Given the description of an element on the screen output the (x, y) to click on. 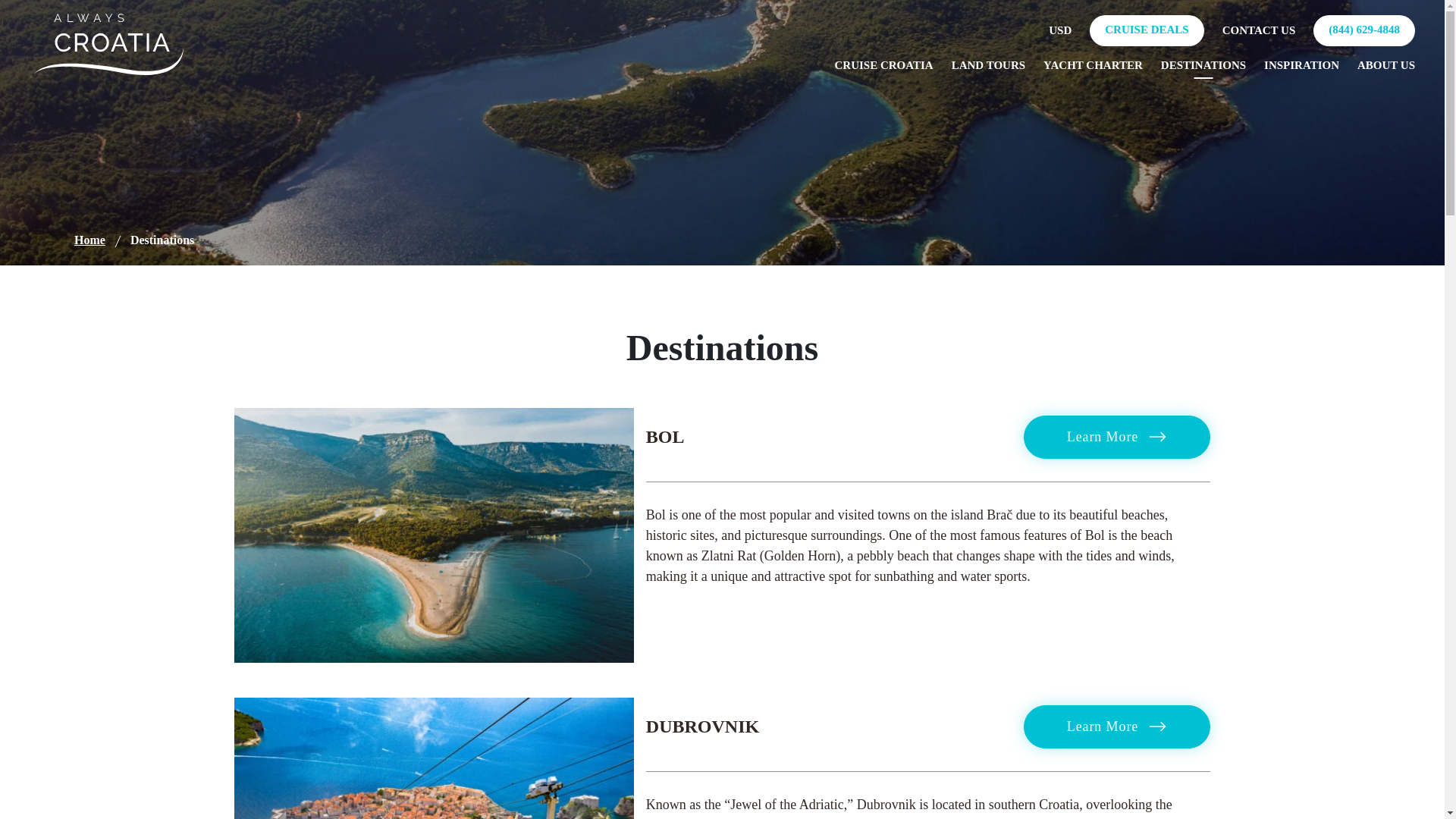
USD (1059, 30)
ABOUT US (1385, 65)
LAND TOURS (988, 65)
INSPIRATION (1301, 65)
Always Croatia (111, 43)
YACHT CHARTER (1092, 65)
CRUISE CROATIA (883, 65)
DESTINATIONS (1203, 65)
CRUISE DEALS (1146, 30)
CONTACT US (1259, 30)
